Given the description of an element on the screen output the (x, y) to click on. 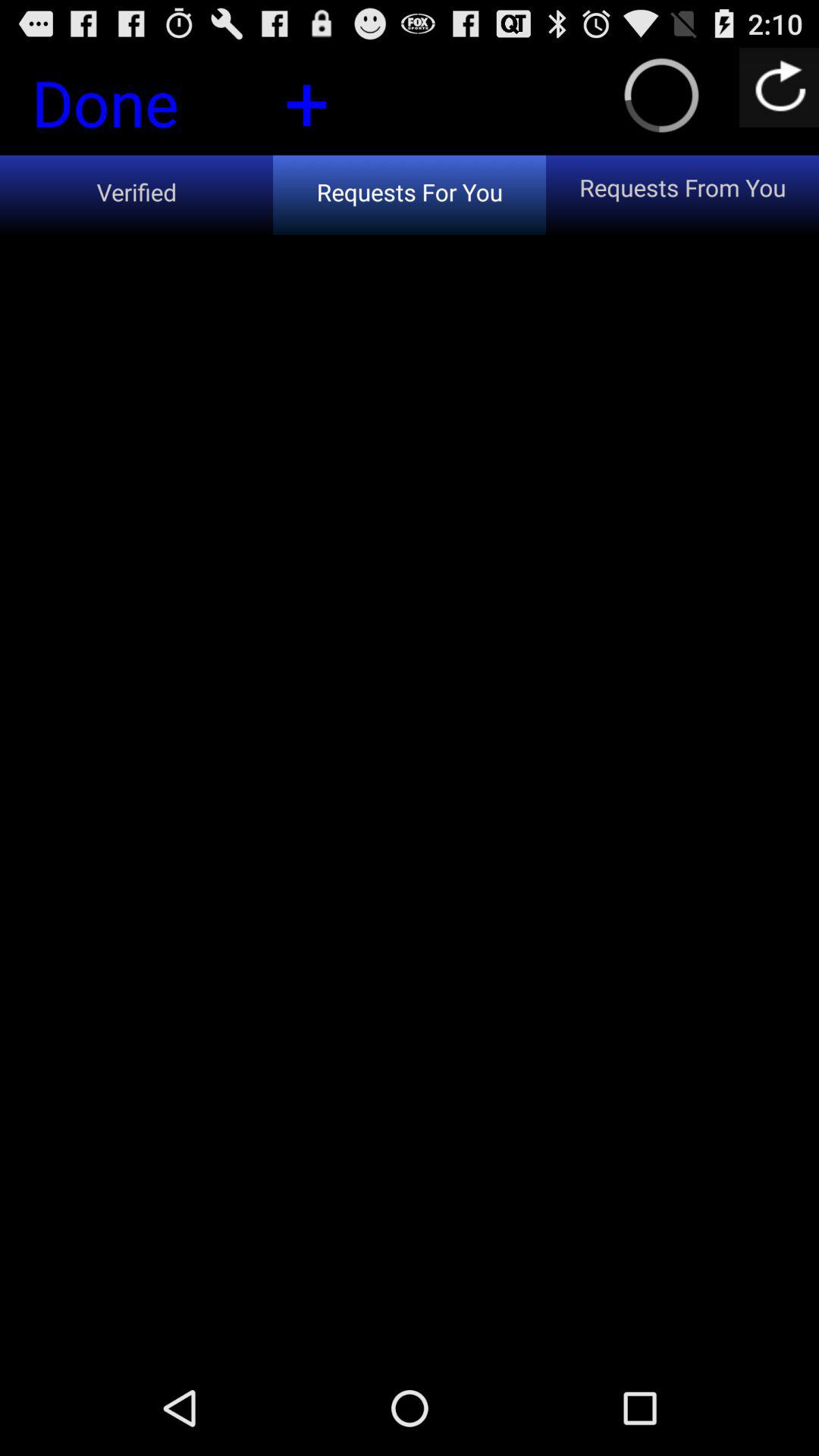
tap the icon next to the requests from you icon (306, 100)
